Given the description of an element on the screen output the (x, y) to click on. 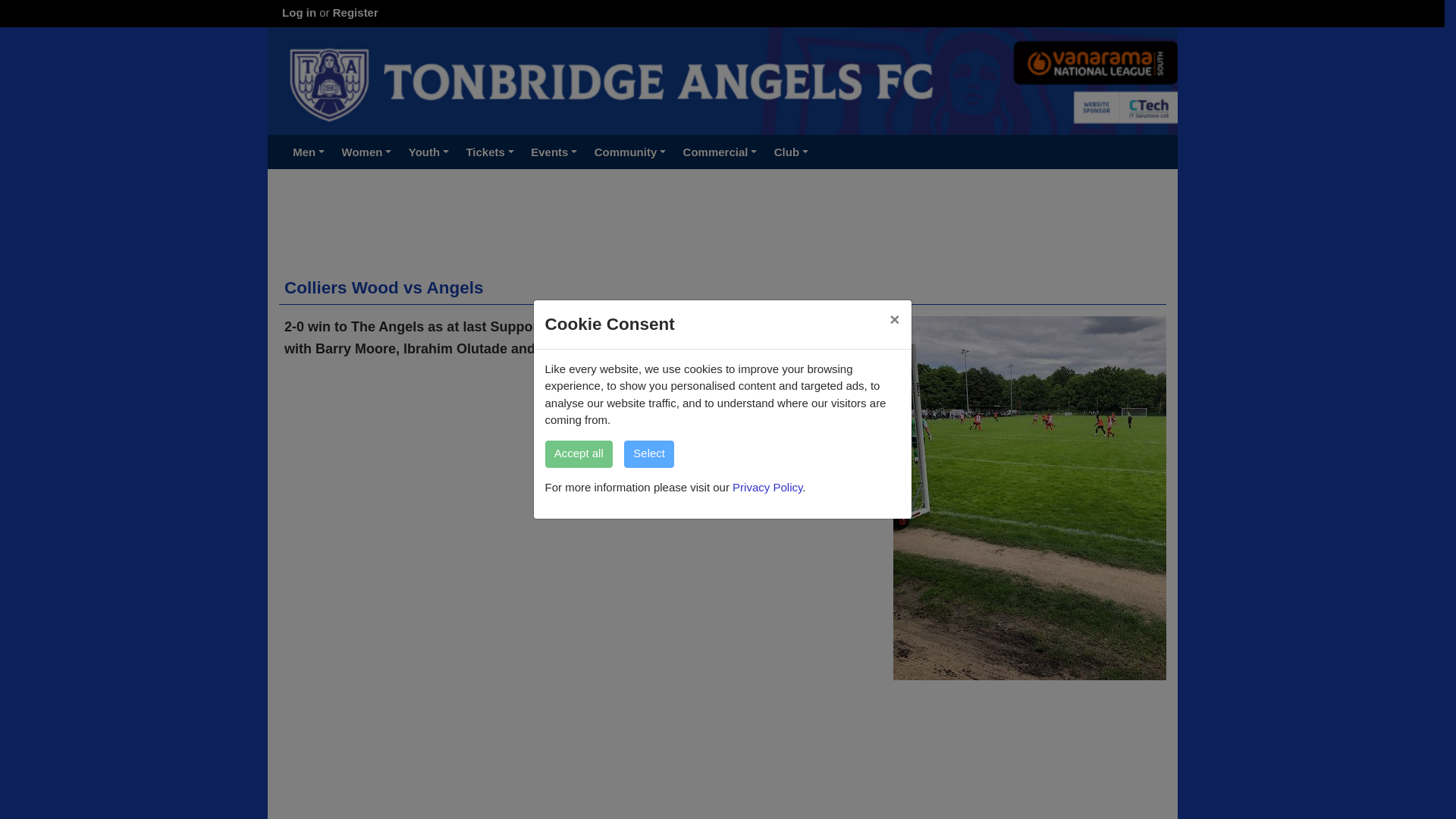
Youth (429, 151)
Events (554, 151)
Men (308, 151)
Tickets (489, 151)
Women (365, 151)
Women (365, 151)
Men (308, 151)
Youth (429, 151)
Register (355, 11)
Log in (298, 11)
